Given the description of an element on the screen output the (x, y) to click on. 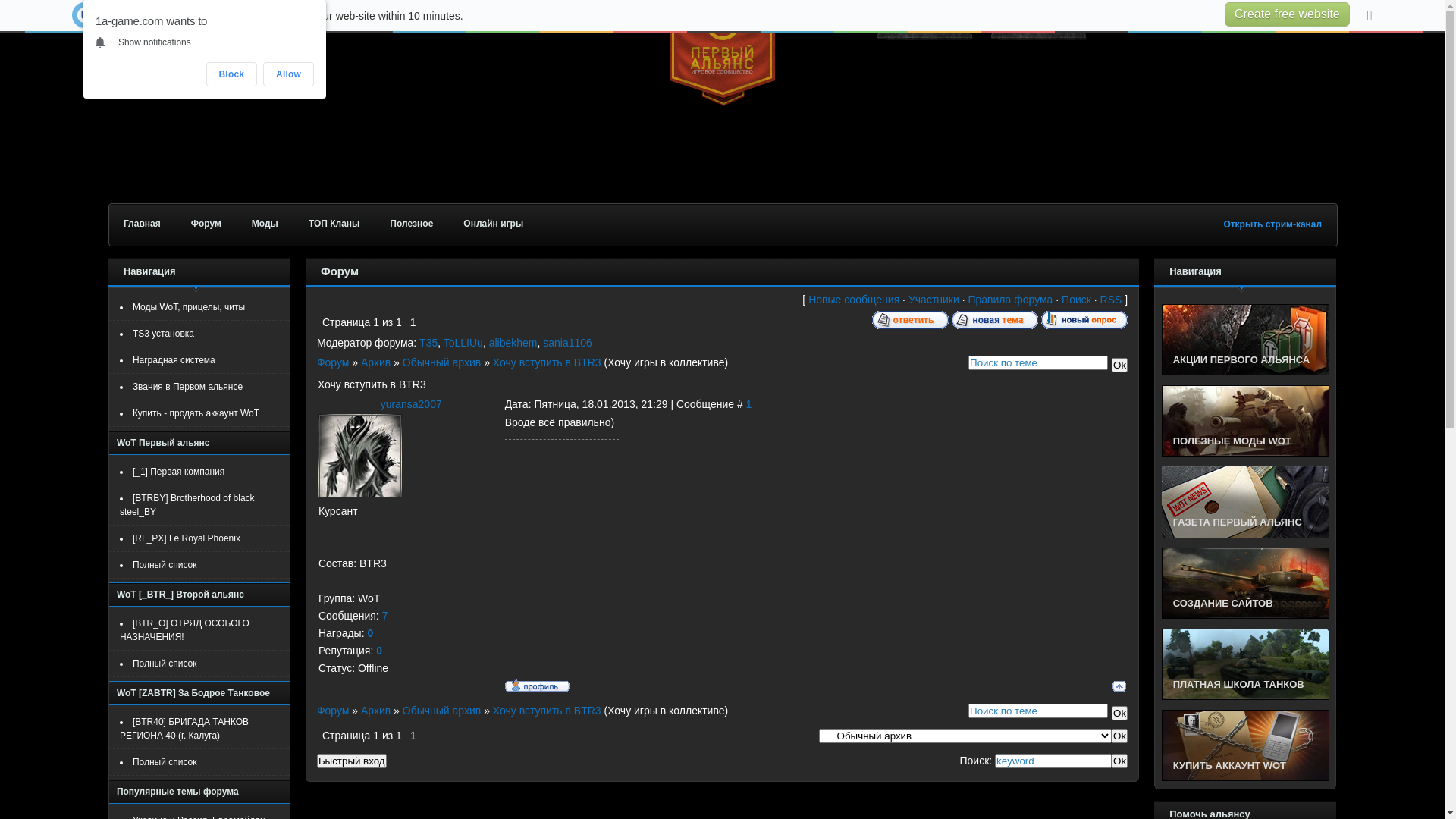
Ok Element type: text (1119, 364)
Ok Element type: text (1119, 712)
0 Element type: text (370, 633)
sania1106 Element type: text (567, 342)
[RL_PX] Le Royal Phoenix Element type: text (186, 538)
Allow Element type: text (288, 74)
[BTRBY] Brotherhood of black steel_BY Element type: text (186, 504)
yuransa2007 Element type: text (411, 404)
T35 Element type: text (428, 342)
1 Element type: text (749, 404)
yuransa2007 Element type: hover (359, 455)
Ok Element type: text (1119, 760)
alibekhem Element type: text (513, 342)
Ok Element type: text (1119, 735)
Block Element type: text (231, 74)
0 Element type: text (379, 650)
7 Element type: text (385, 615)
RSS Element type: text (1111, 298)
ToLLIUu Element type: text (463, 342)
